Given the description of an element on the screen output the (x, y) to click on. 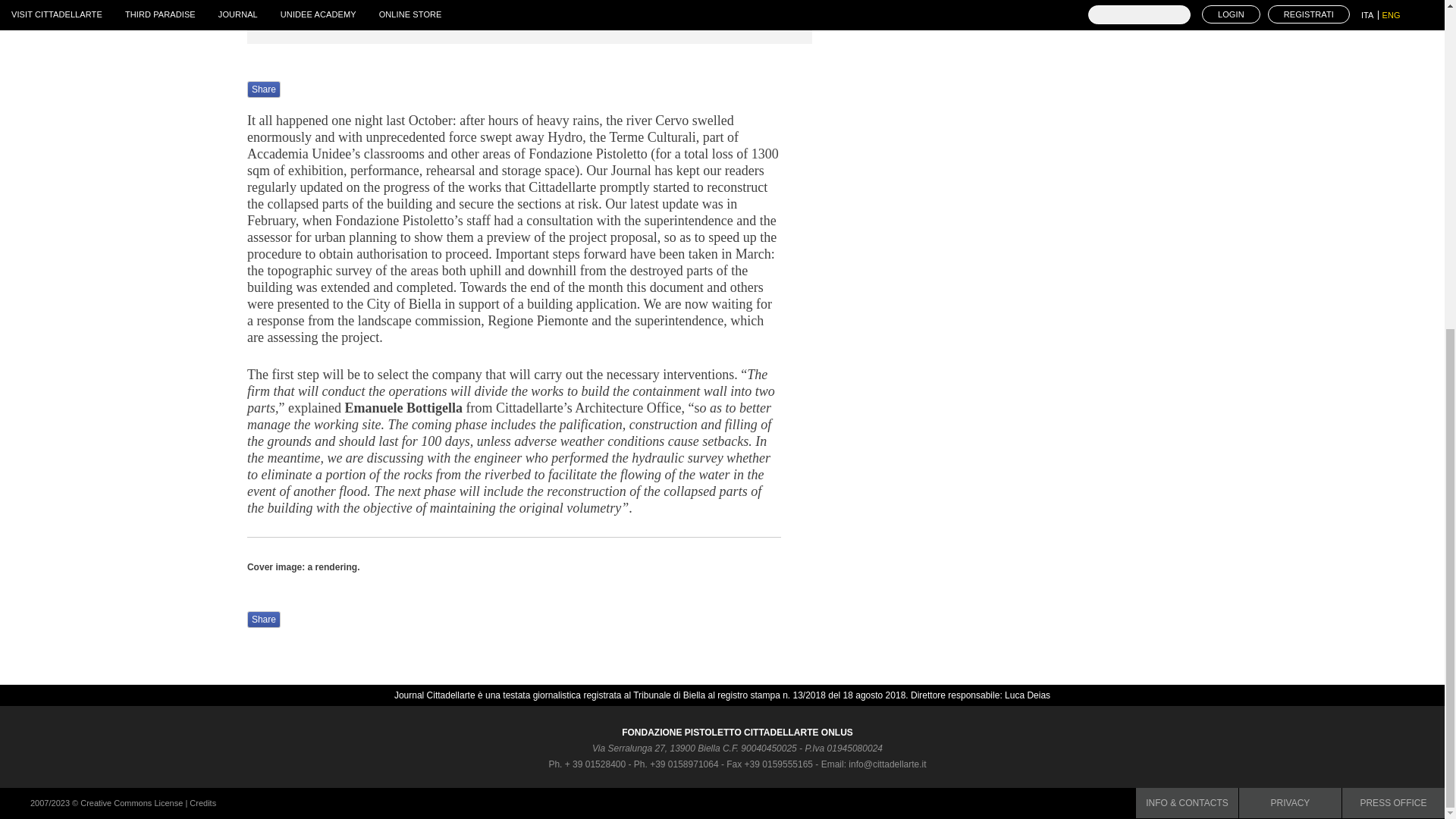
Credits (202, 802)
PRIVACY (1289, 802)
Share (264, 89)
Web Agency Milano (202, 802)
Share (264, 619)
